Given the description of an element on the screen output the (x, y) to click on. 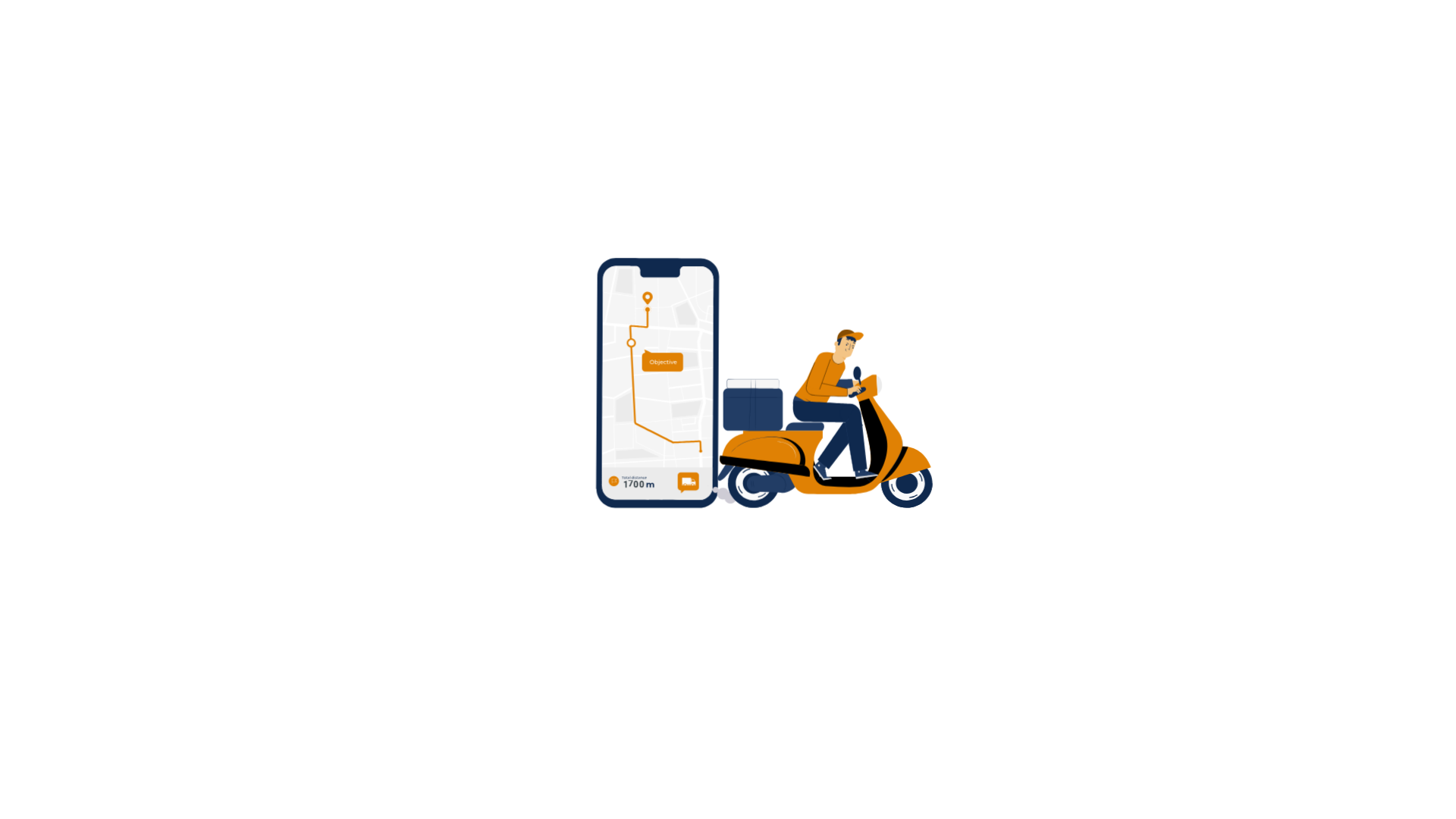
+994 55 976 85 00 Element type: text (717, 791)
info@nurlukargo.az Element type: text (720, 761)
FAQ Element type: text (573, 791)
Filiallar Element type: text (581, 731)
